Given the description of an element on the screen output the (x, y) to click on. 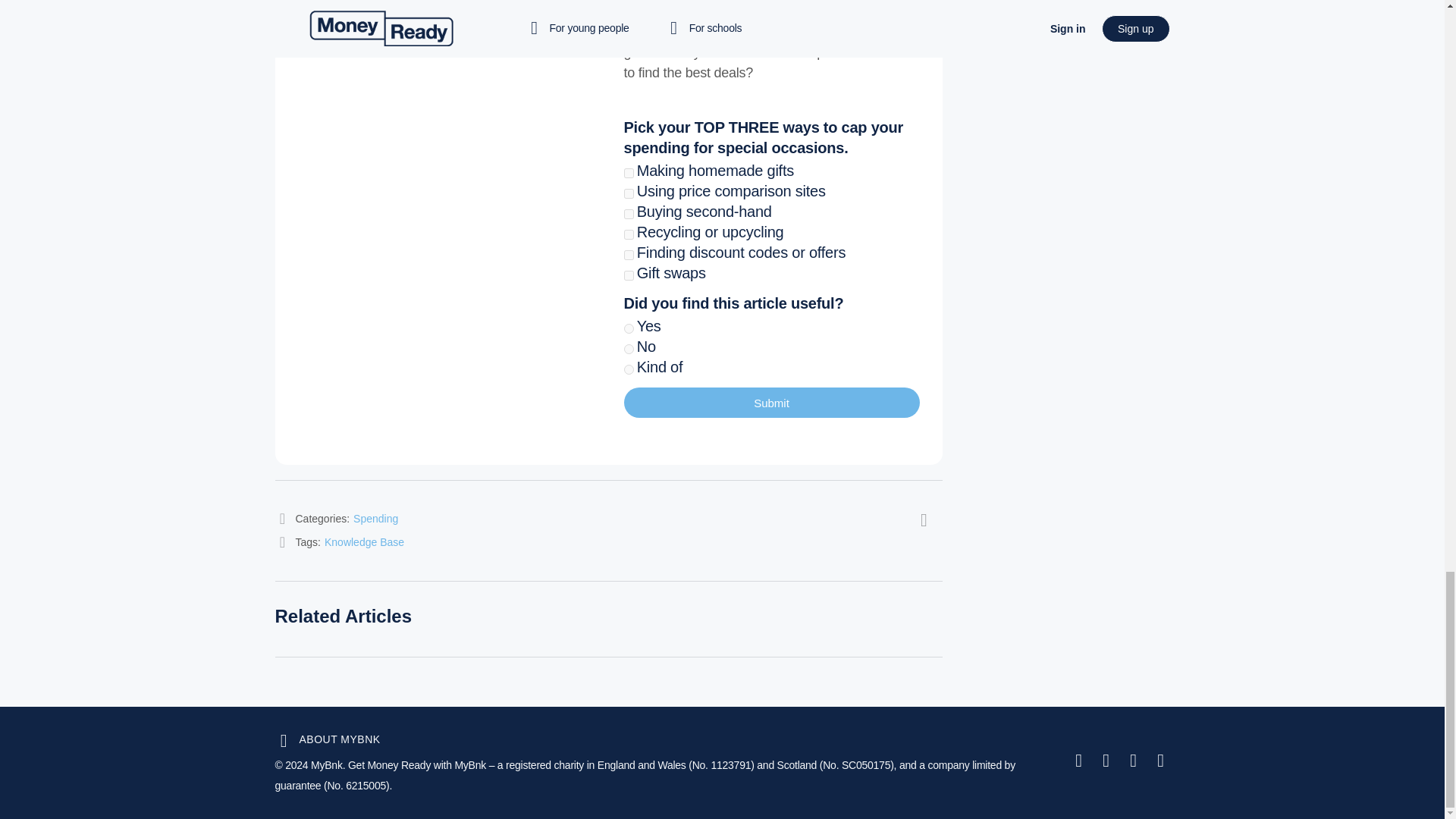
Knowledge Base (364, 541)
Making homemade gifts (628, 173)
Submit (770, 402)
Finding discount codes or offers (628, 255)
Buying second-hand (628, 214)
Kind of (628, 369)
Gift swaps (628, 275)
Yes (628, 328)
Using price comparison sites (628, 194)
Recycling or upcycling (628, 234)
